Given the description of an element on the screen output the (x, y) to click on. 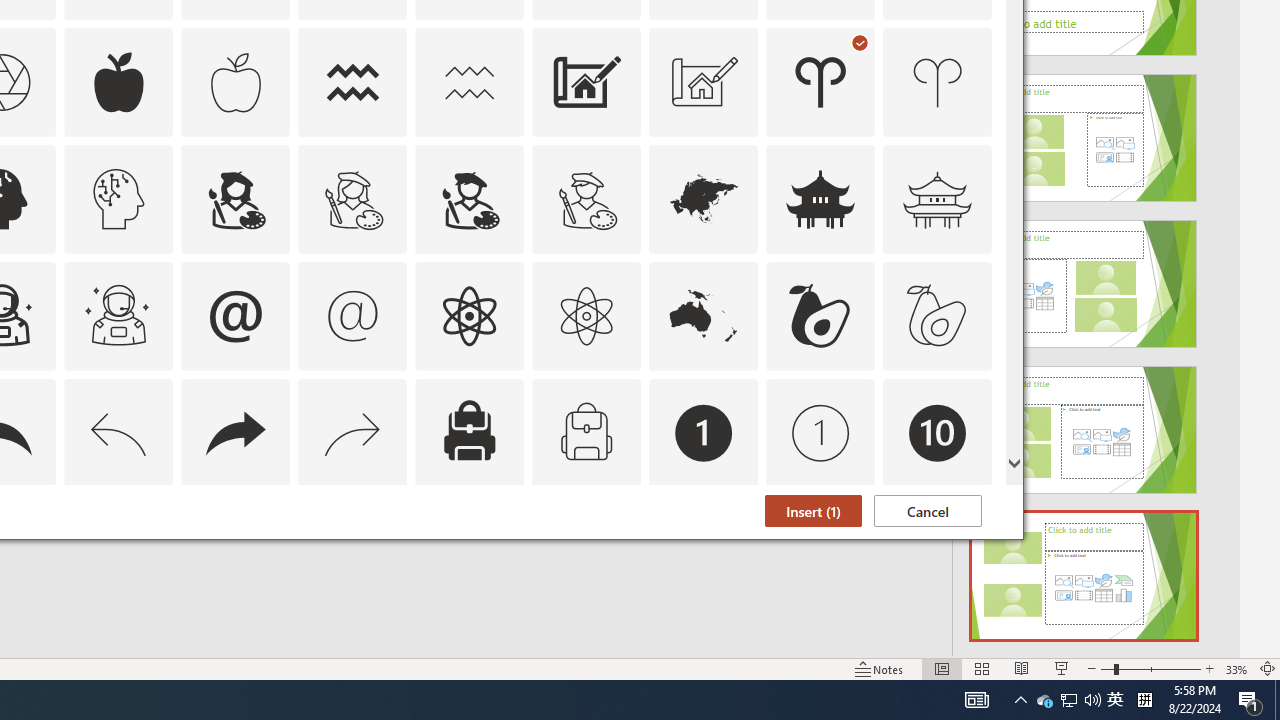
AutomationID: Icons (937, 550)
AutomationID: Icons_Aquarius (353, 82)
AutomationID: Icons_Back_RTL_M (353, 432)
AutomationID: Icons_Badge8_M (703, 550)
AutomationID: Icons_Badge7 (353, 550)
AutomationID: Icons_Architecture_M (703, 82)
Thumbnail (977, 511)
